Given the description of an element on the screen output the (x, y) to click on. 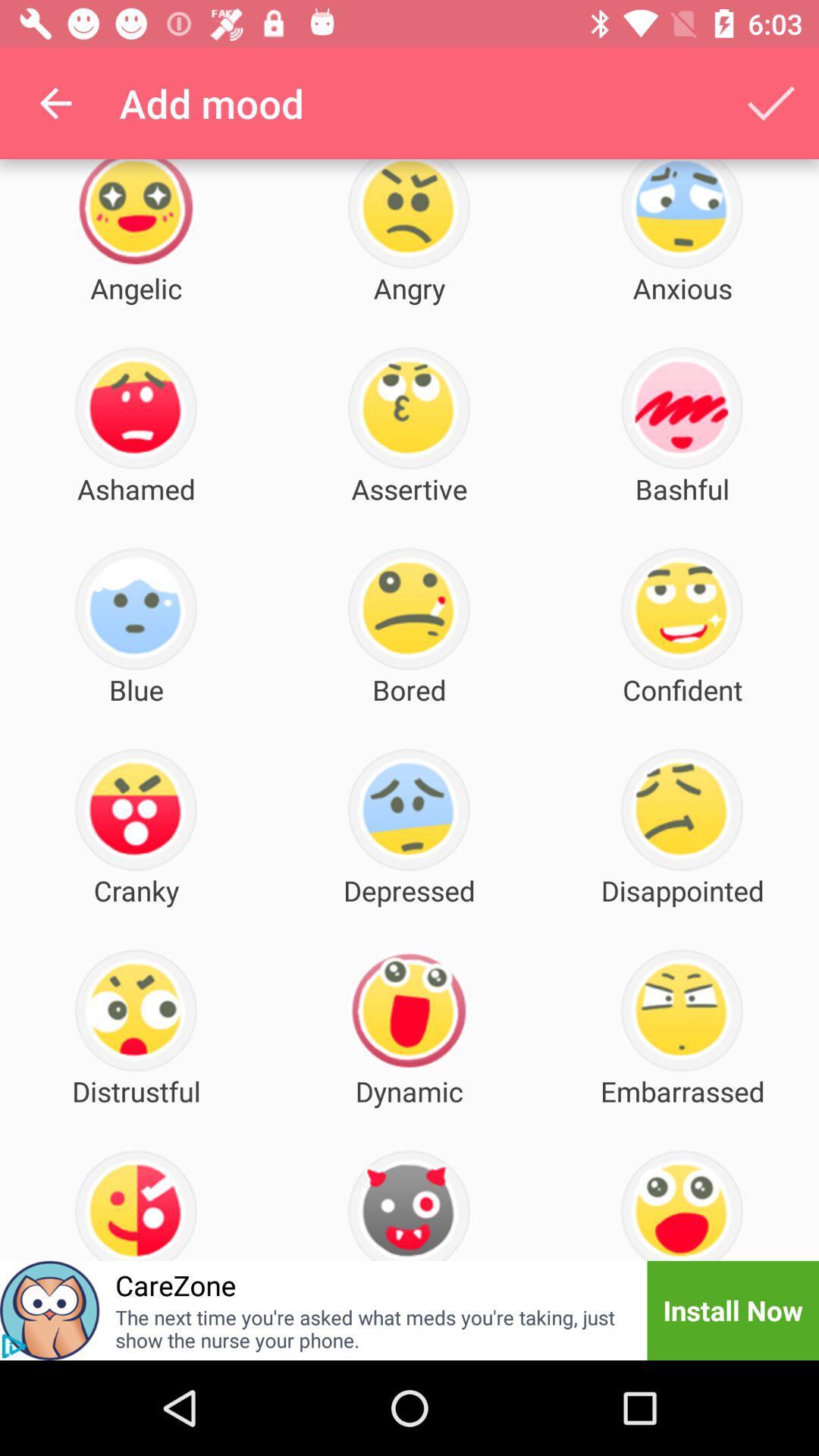
select the fifth emoji in the first column which is below distrustful (136, 1205)
click on the first emoji (136, 213)
select the mood below embarrassed (681, 1205)
